Given the description of an element on the screen output the (x, y) to click on. 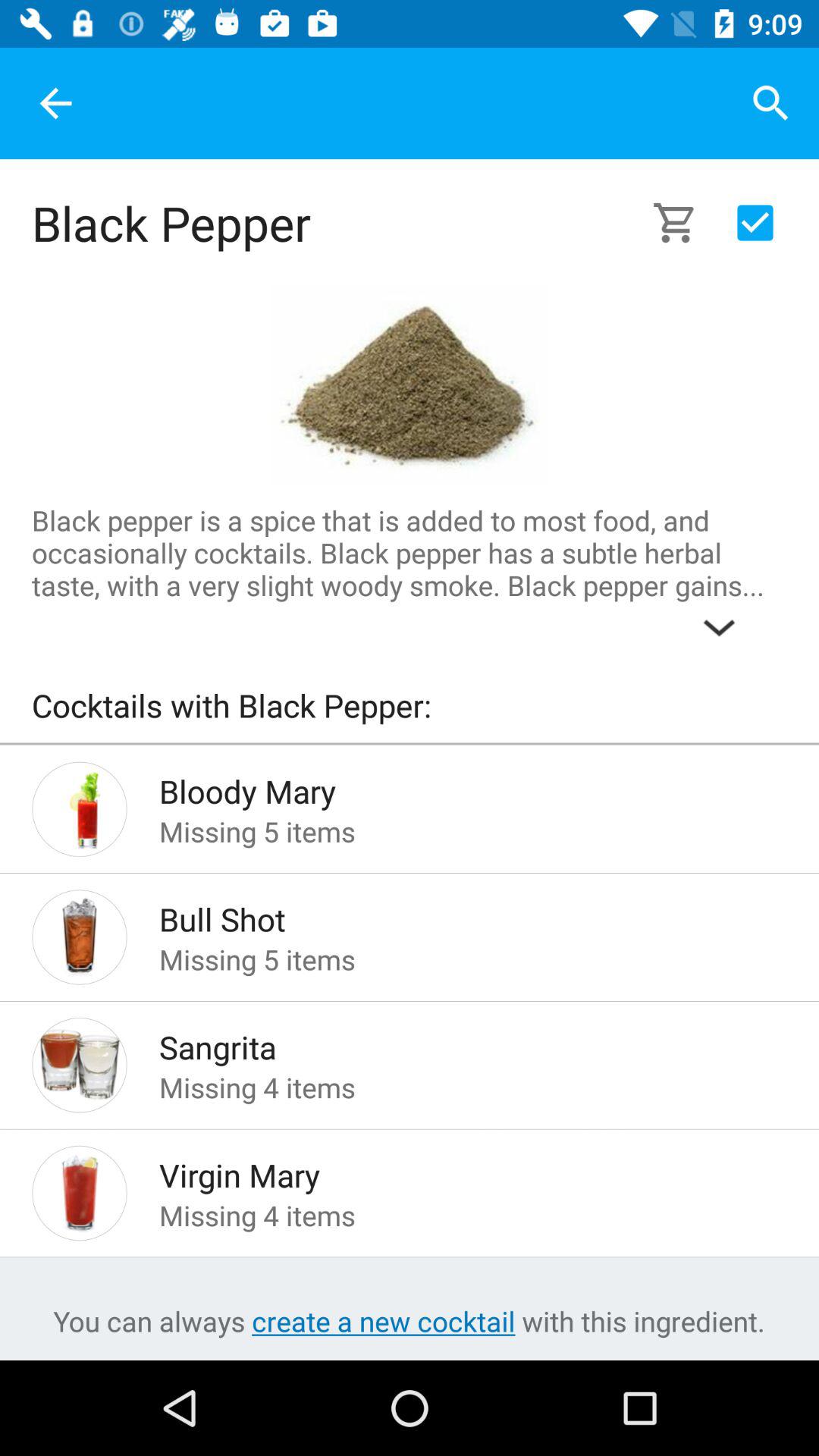
select bloody mary item (449, 786)
